Given the description of an element on the screen output the (x, y) to click on. 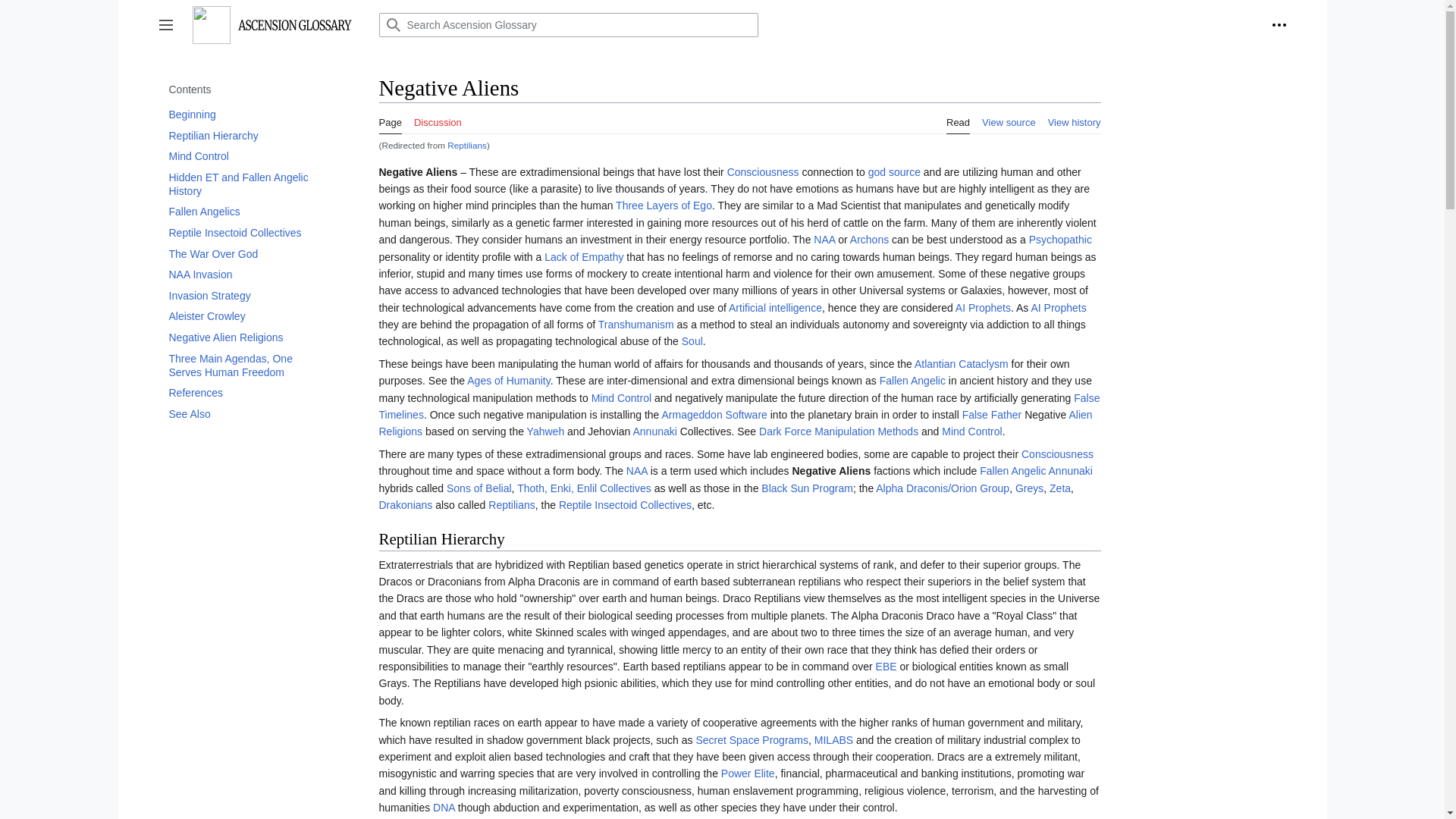
Search (392, 24)
Go (392, 24)
View source (1008, 118)
More options (1279, 24)
See Also (245, 414)
Three Main Agendas, One Serves Human Freedom (245, 365)
References (245, 392)
Search (392, 24)
Aleister Crowley (245, 315)
The War Over God (245, 253)
Main menu (165, 24)
Invasion Strategy (245, 295)
Hidden ET and Fallen Angelic History (245, 183)
Reptile Insectoid Collectives (245, 232)
Beginning (245, 114)
